Given the description of an element on the screen output the (x, y) to click on. 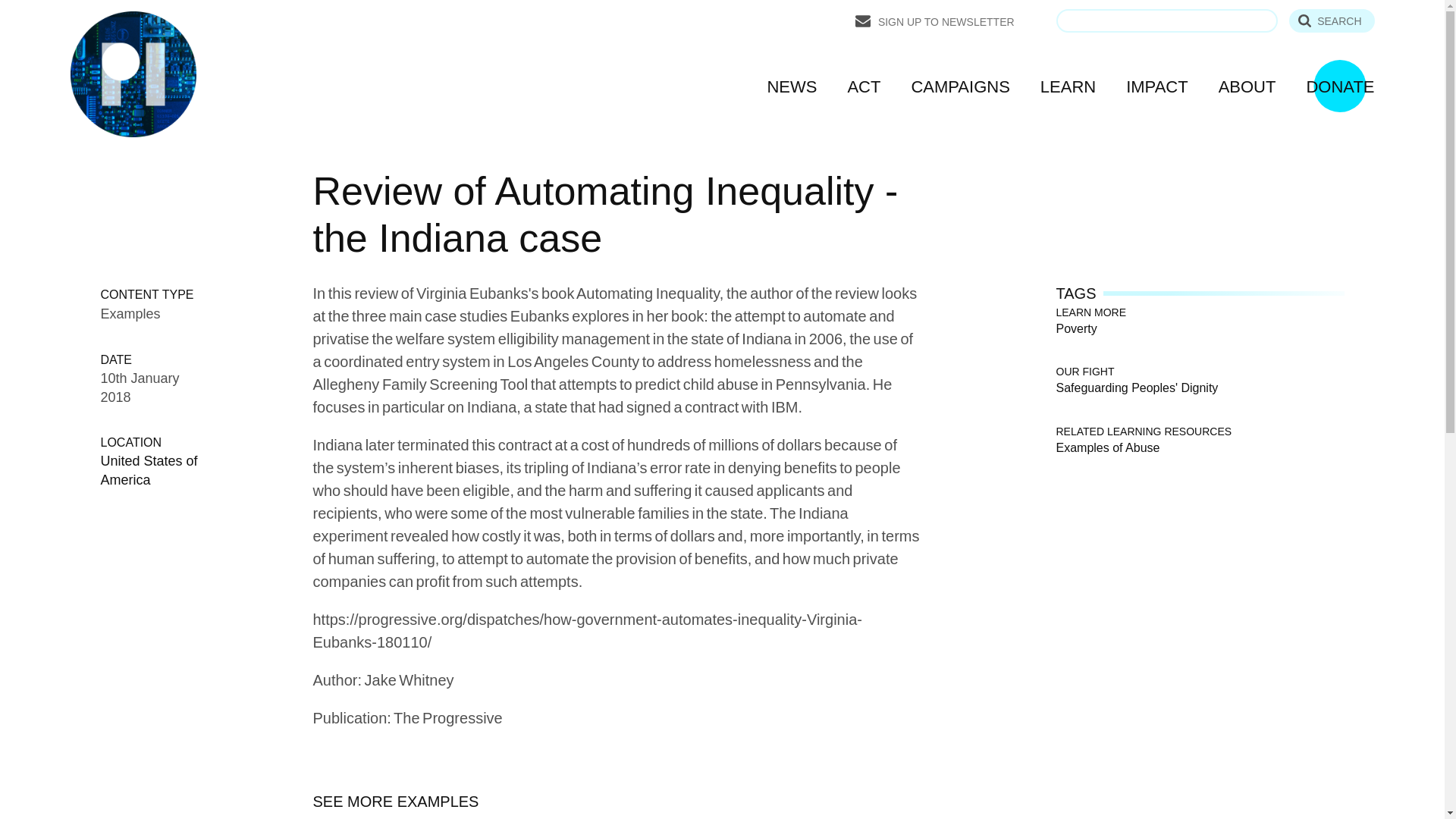
Search (1331, 20)
LEARN (1068, 86)
Examples of Abuse (1106, 446)
Search (1331, 20)
CAMPAIGNS (960, 86)
Safeguarding Peoples' Dignity (1136, 386)
SIGN UP TO NEWSLETTER (935, 21)
Poverty (1075, 327)
IMPACT (1156, 86)
NEWS (791, 86)
DONATE (1340, 86)
United States of America (148, 469)
ABOUT (1247, 86)
